Given the description of an element on the screen output the (x, y) to click on. 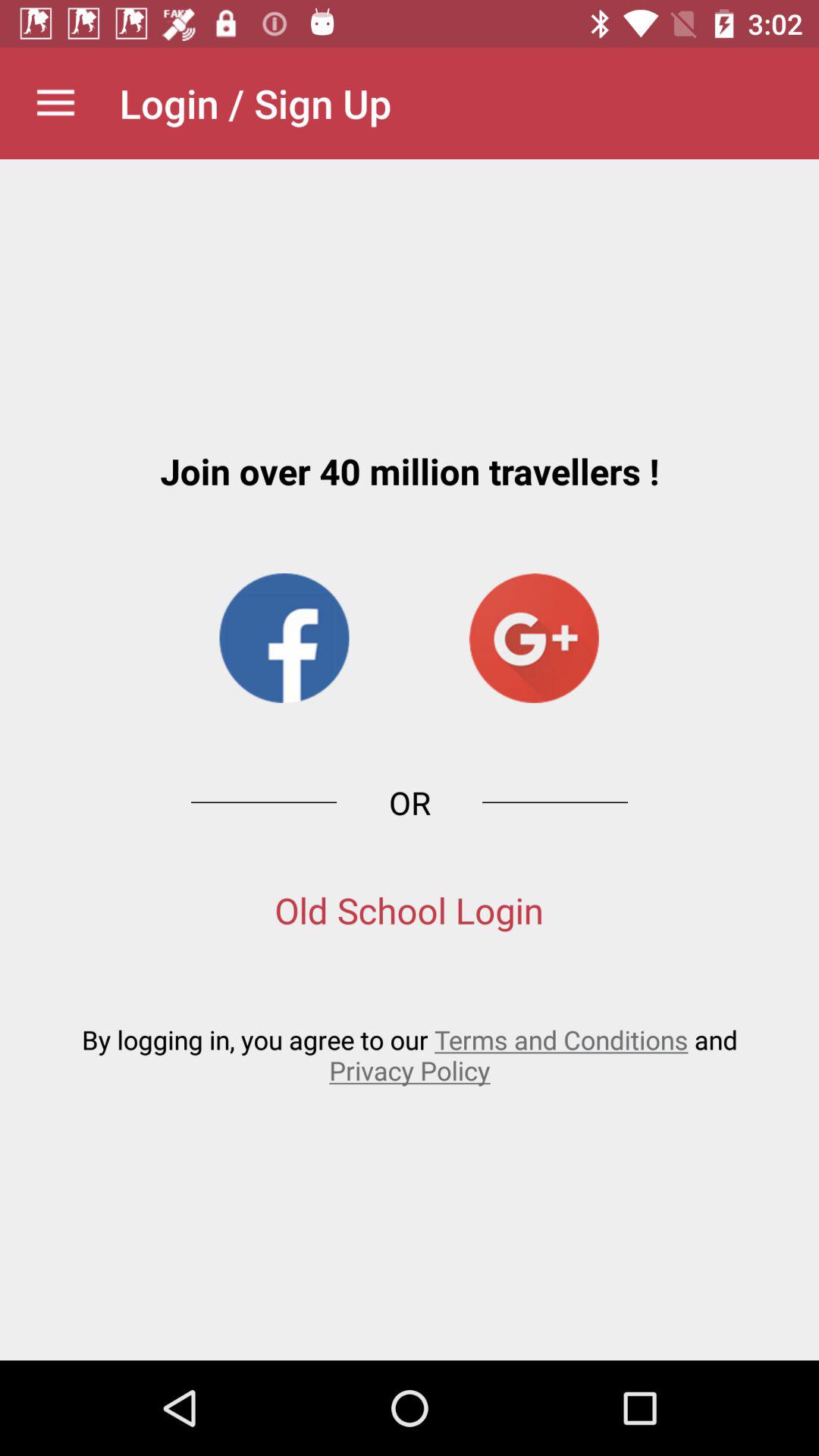
click item above the or (533, 637)
